Given the description of an element on the screen output the (x, y) to click on. 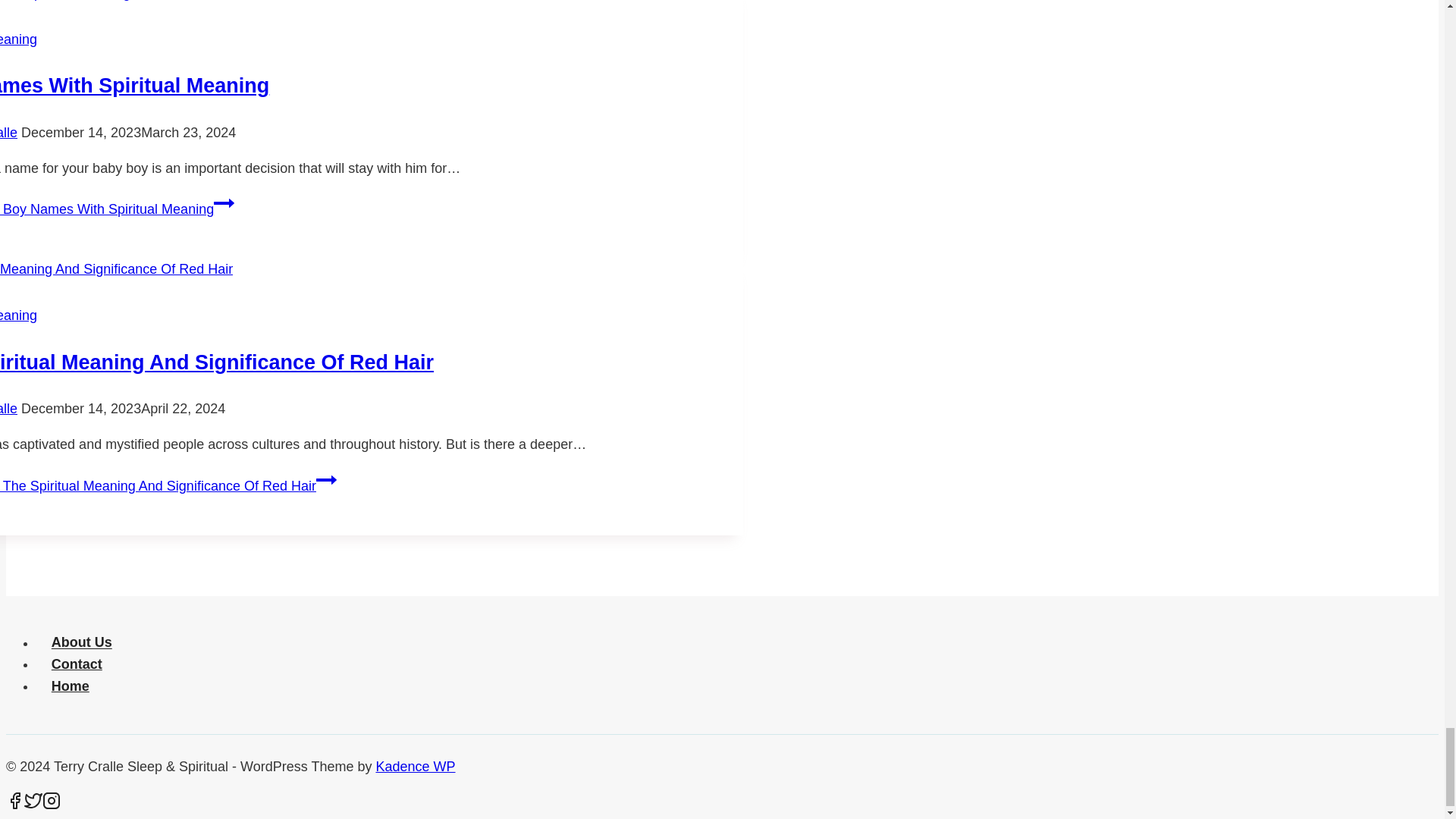
Spiritual Meaning (18, 38)
Facebook (14, 800)
Twitter (33, 800)
Continue (224, 202)
Boy Names With Spiritual Meaning (134, 85)
Continue (325, 479)
Terry Cralle (8, 132)
Read More Boy Names With Spiritual MeaningContinue (117, 209)
Instagram (51, 800)
